Given the description of an element on the screen output the (x, y) to click on. 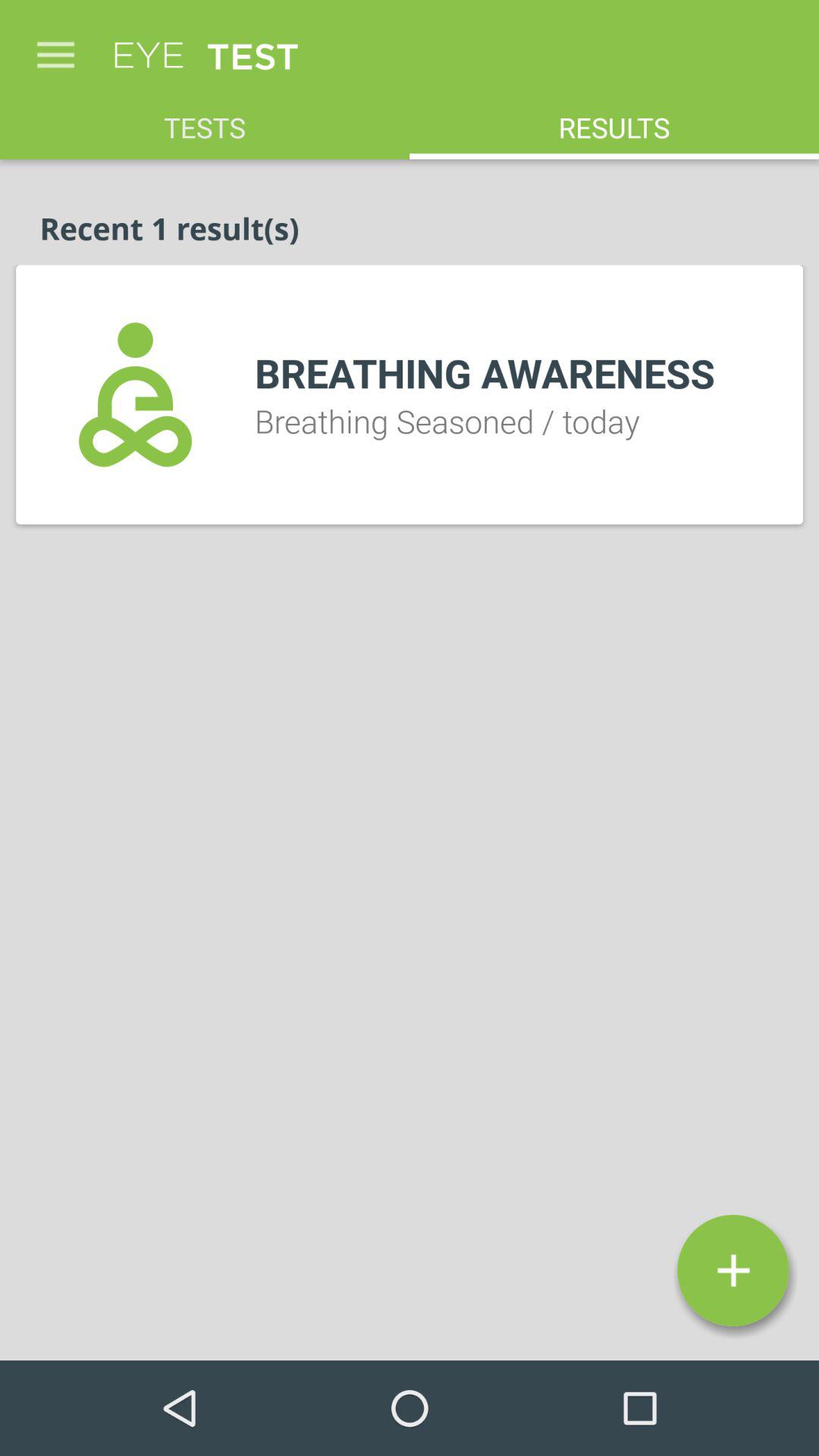
scroll to results icon (614, 119)
